Given the description of an element on the screen output the (x, y) to click on. 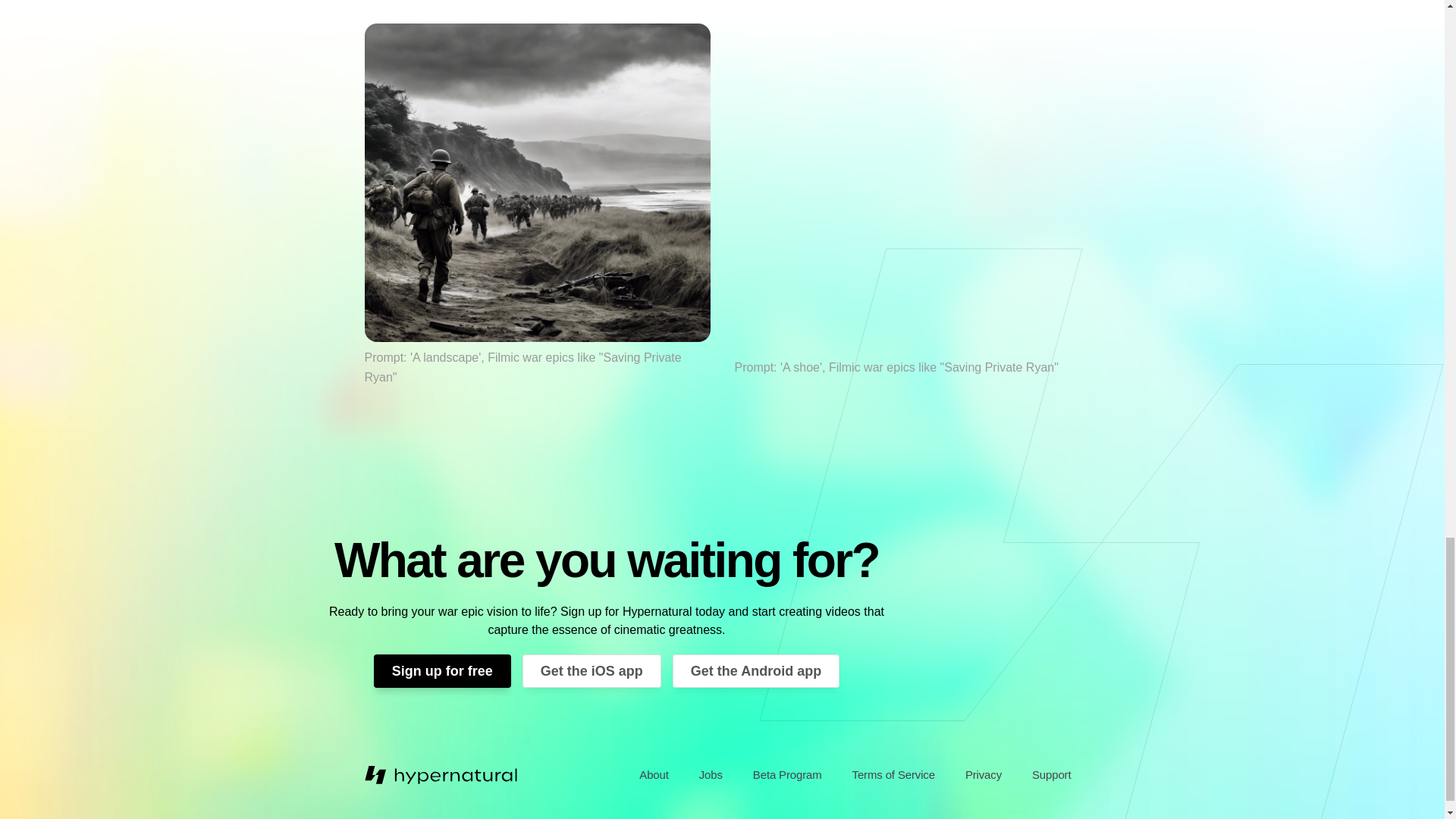
Get the iOS app (591, 670)
Beta Program (787, 774)
Privacy (983, 774)
Support (1051, 774)
About (653, 774)
Get the Android app (756, 670)
Terms of Service (893, 774)
Jobs (711, 774)
Sign up for free (442, 670)
